Given the description of an element on the screen output the (x, y) to click on. 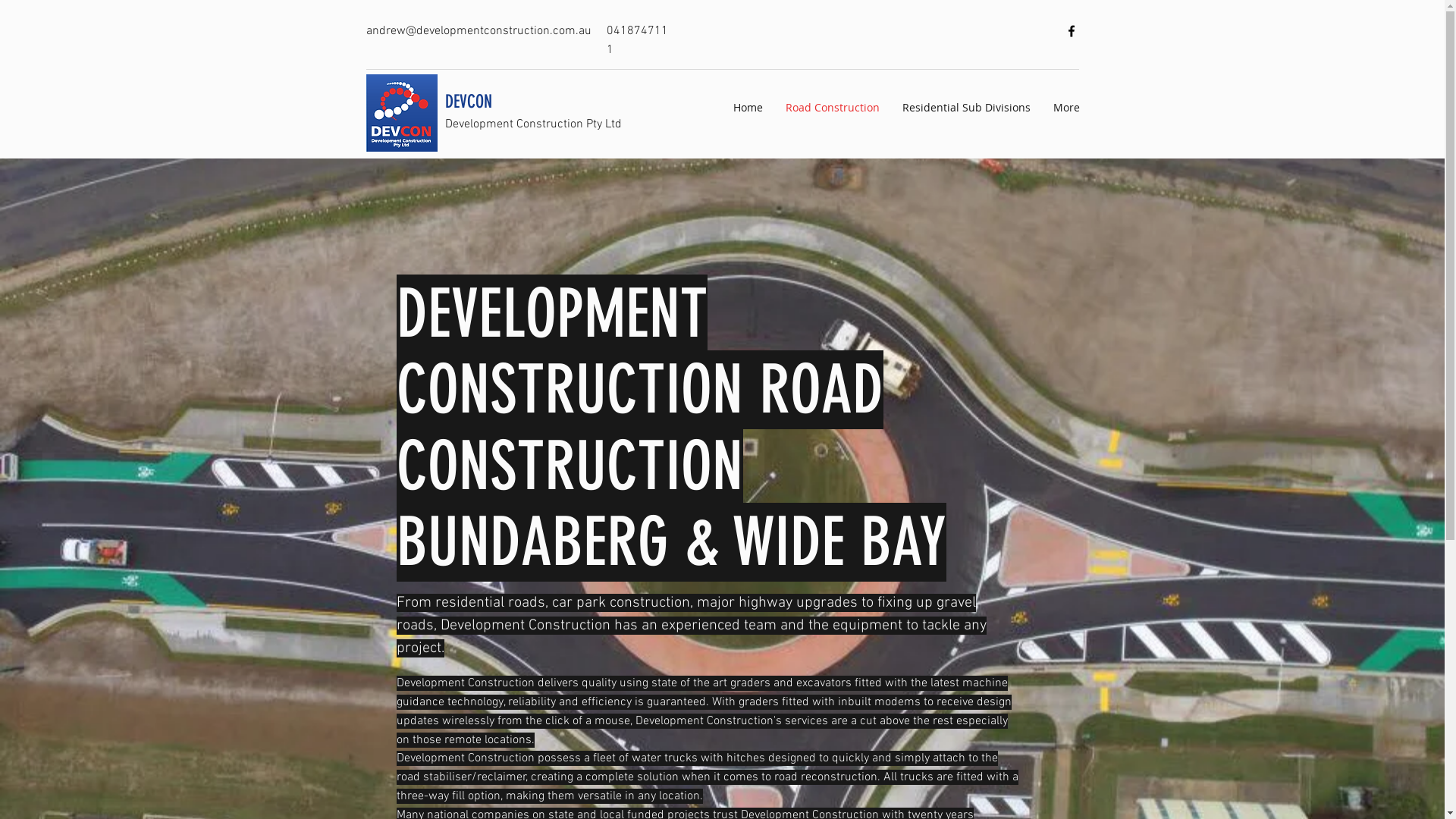
Road Construction Element type: text (831, 107)
andrew@developmentconstruction.com.au Element type: text (477, 30)
Home Element type: text (747, 107)
Residential Sub Divisions Element type: text (965, 107)
